Given the description of an element on the screen output the (x, y) to click on. 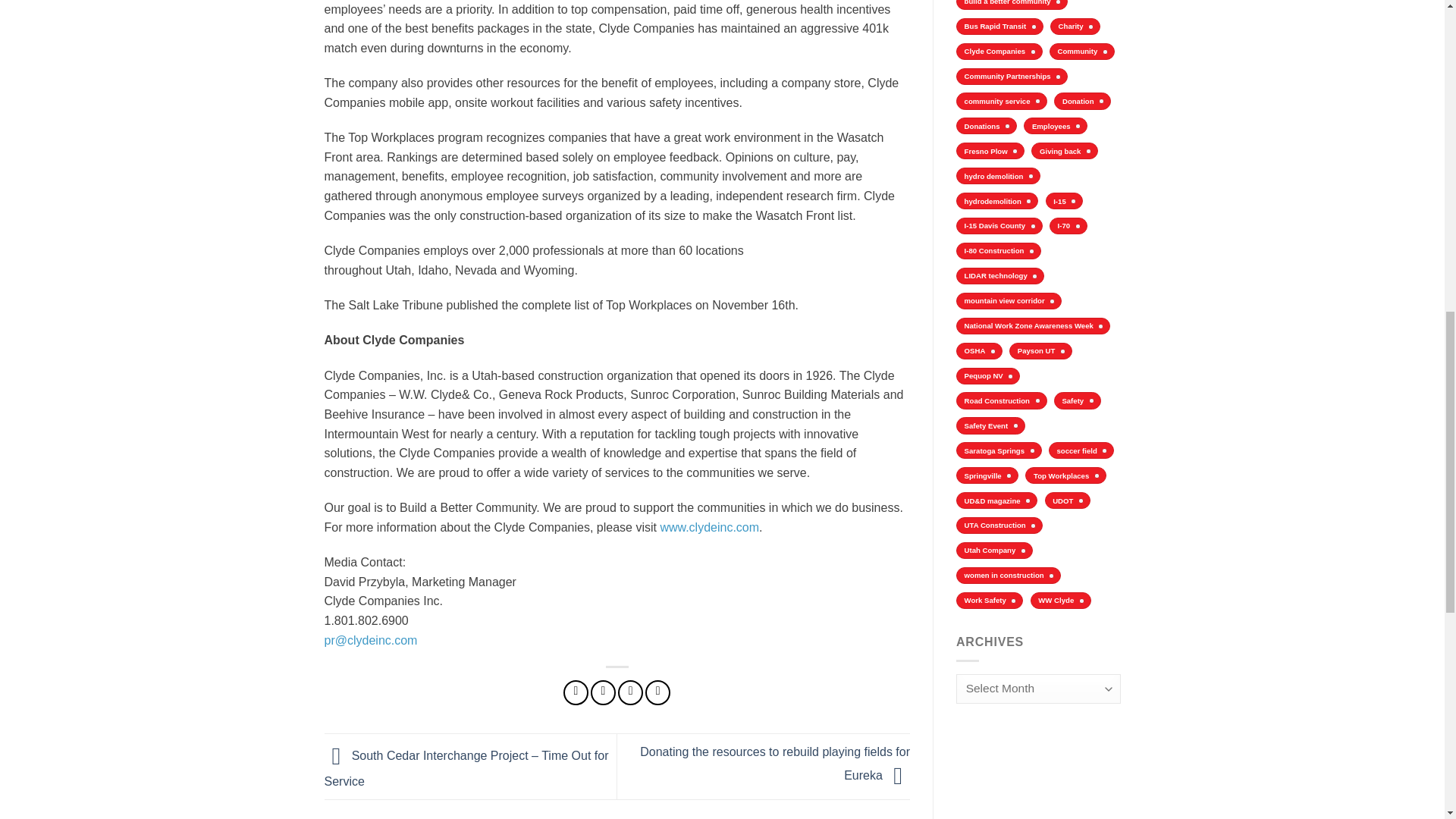
Email to a Friend (630, 692)
Share on Twitter (603, 692)
Share on Facebook (575, 692)
Share on LinkedIn (657, 692)
